Given the description of an element on the screen output the (x, y) to click on. 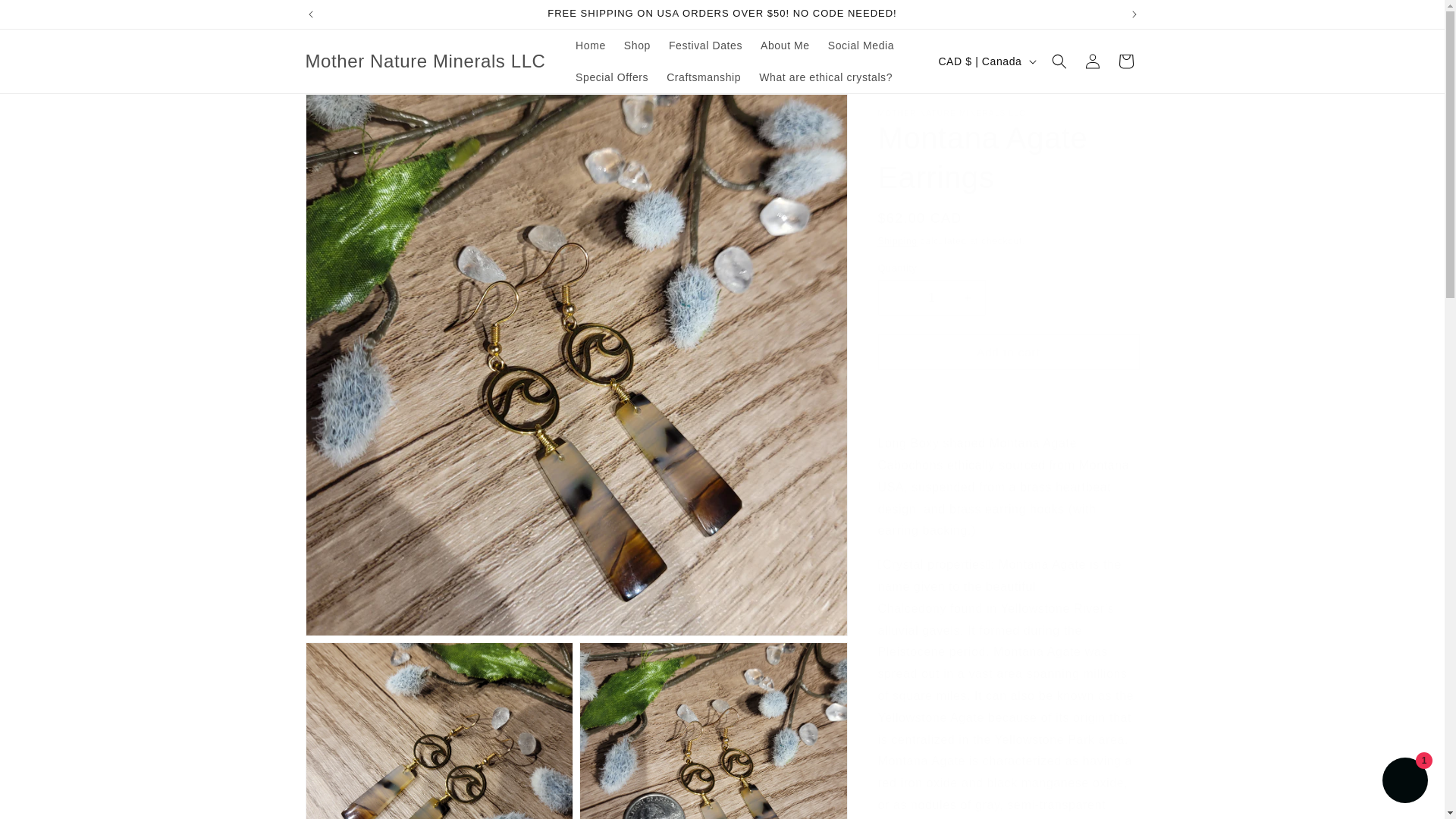
Skip to content (45, 17)
Social Media (860, 45)
Shopify online store chat (1404, 781)
Craftsmanship (703, 77)
Mother Nature Minerals LLC (425, 61)
Festival Dates (705, 45)
Shipping (897, 240)
Shop (636, 45)
About Me (784, 45)
Skip to product information (350, 110)
Open media 3 in modal (713, 730)
Home (590, 45)
Log in (1091, 61)
What are ethical crystals? (825, 77)
Open media 2 in modal (438, 730)
